Given the description of an element on the screen output the (x, y) to click on. 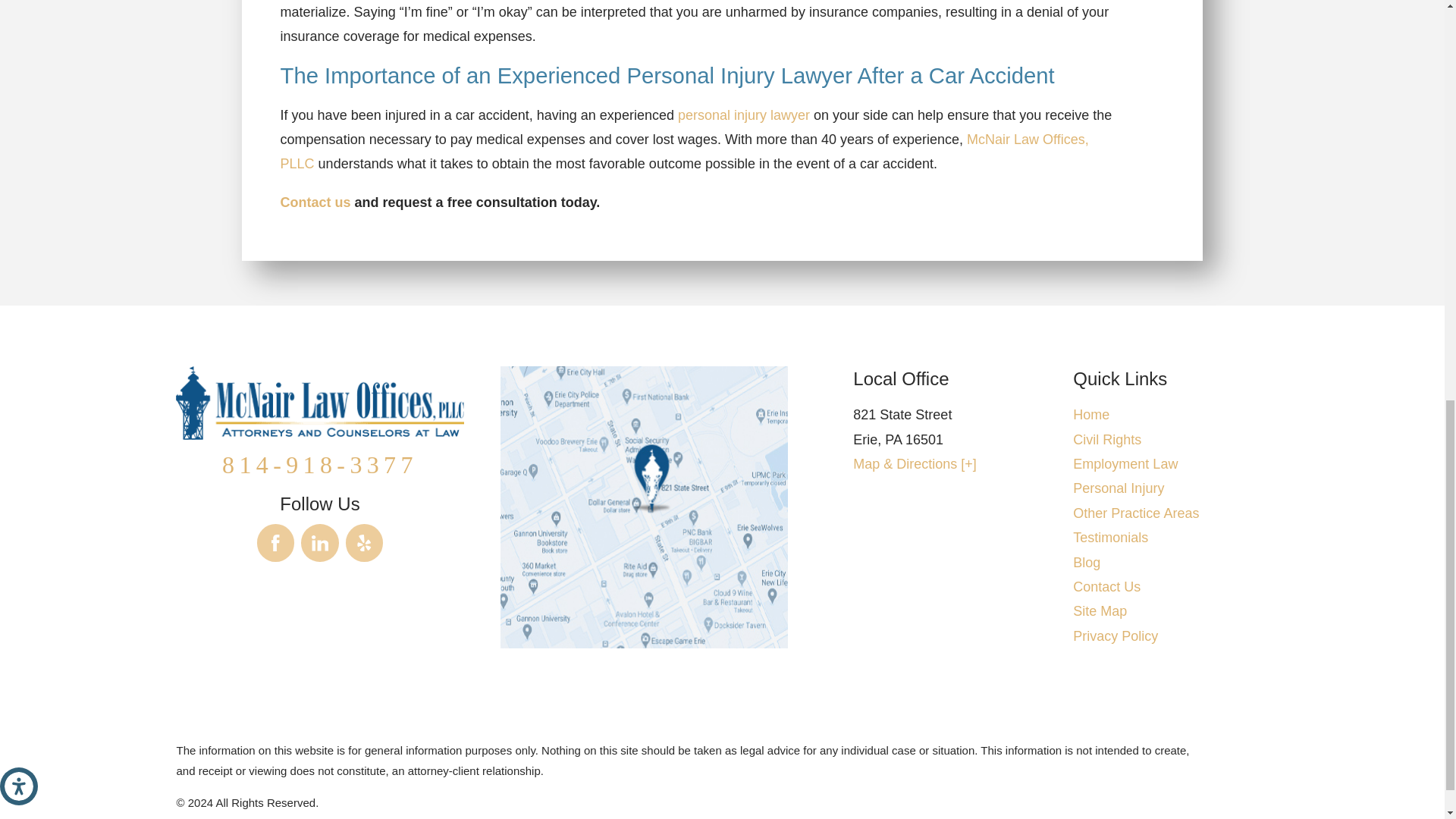
McNair Law Offices, PLLC (319, 402)
LinkedIn (320, 542)
Facebook (276, 542)
Yelp (365, 542)
